Given the description of an element on the screen output the (x, y) to click on. 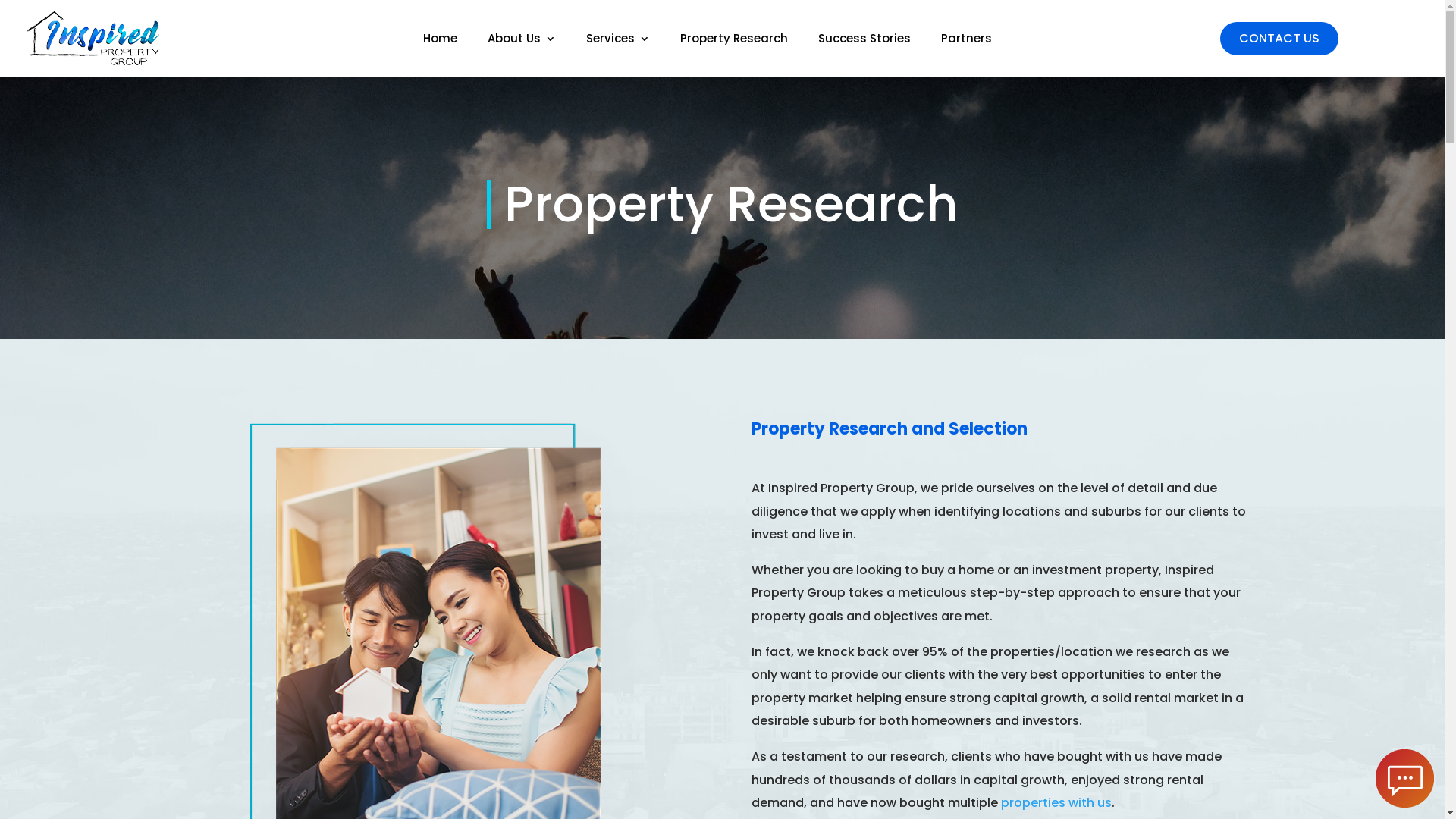
properties with us Element type: text (1056, 802)
Home Element type: text (440, 41)
Property Research Element type: text (733, 41)
Success Stories Element type: text (863, 41)
Services Element type: text (617, 41)
comment Element type: hover (1404, 778)
CONTACT US Element type: text (1278, 37)
About Us Element type: text (520, 41)
Partners Element type: text (965, 41)
logo Element type: hover (92, 38)
